Given the description of an element on the screen output the (x, y) to click on. 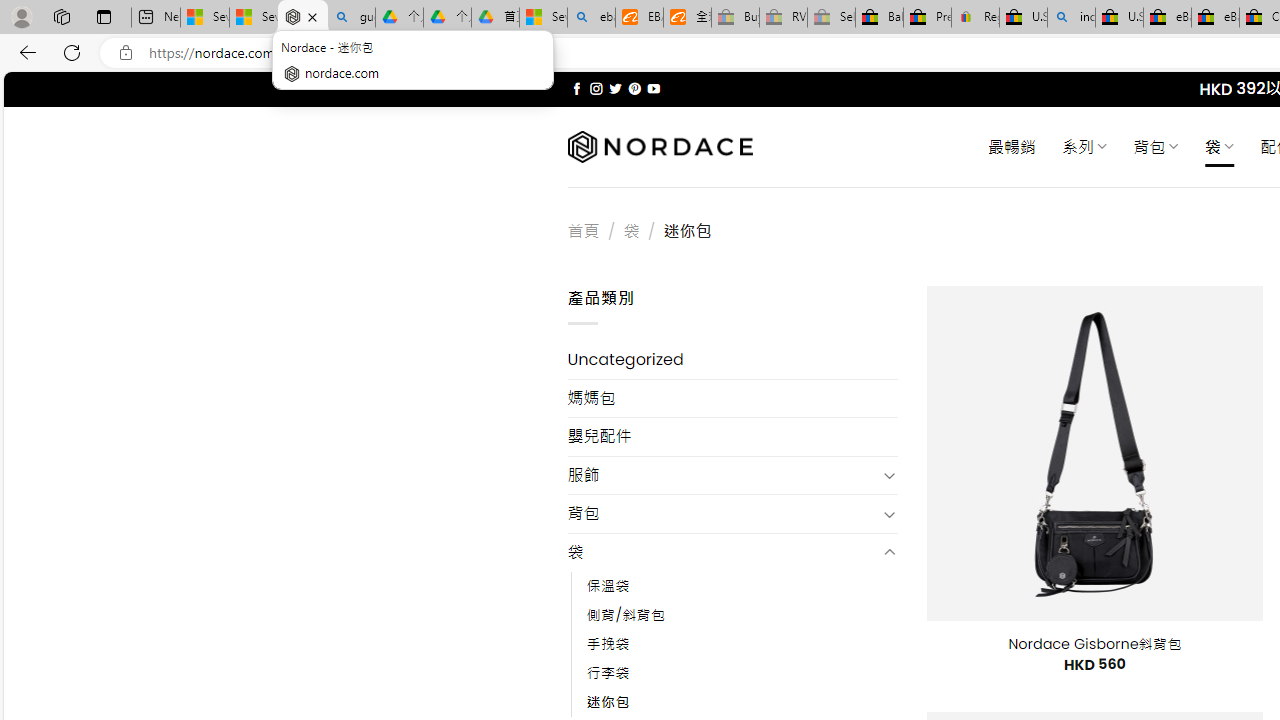
eBay Inc. Reports Third Quarter 2023 Results (1215, 17)
Baby Keepsakes & Announcements for sale | eBay (879, 17)
Sell worldwide with eBay - Sleeping (831, 17)
Follow on Pinterest (634, 88)
